Given the description of an element on the screen output the (x, y) to click on. 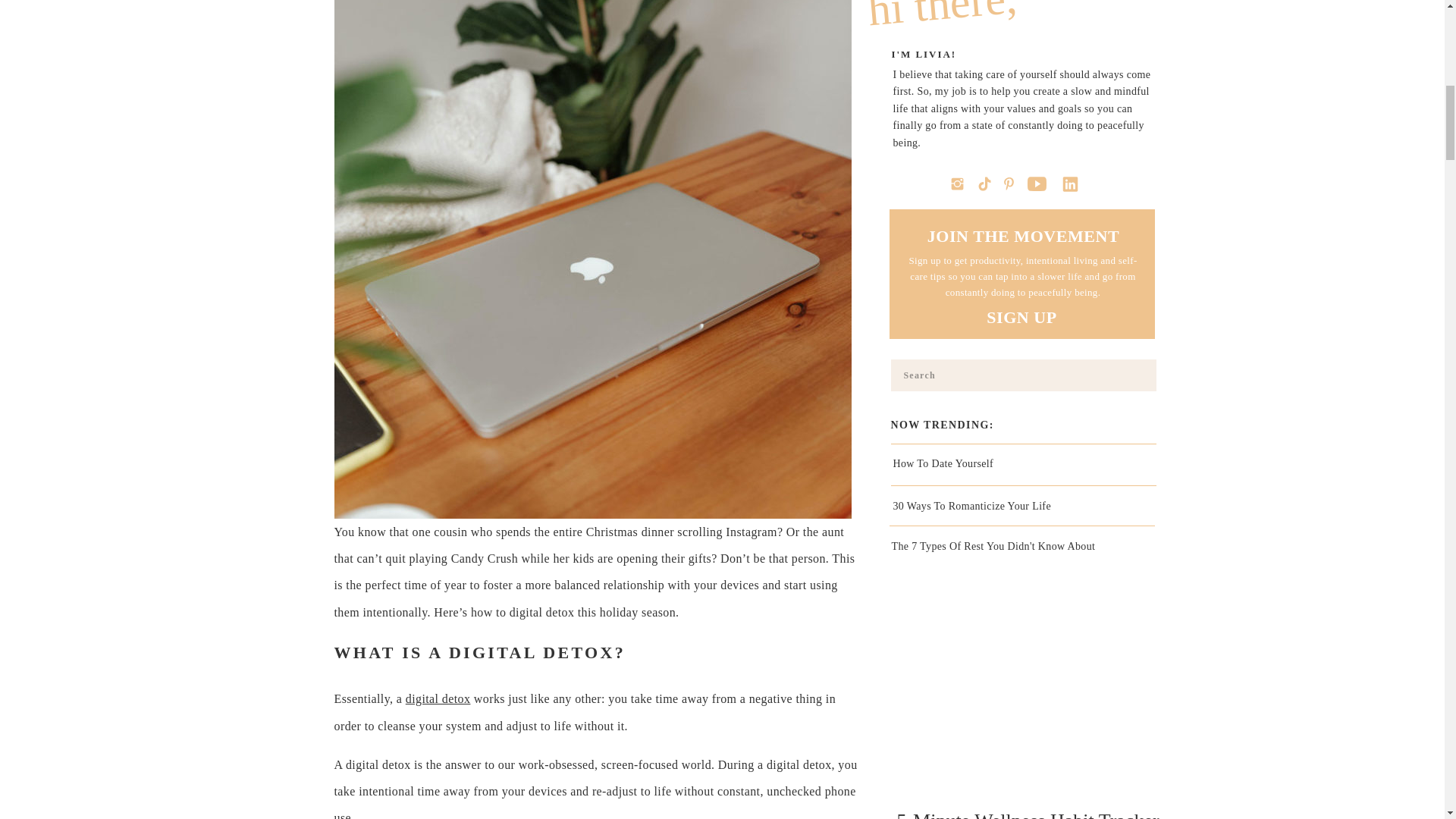
The 7 Types Of Rest You Didn'T Know About (1024, 554)
How To Date Yourself (1025, 466)
digital detox (438, 698)
30 Ways To Romanticize Your Life (1025, 507)
